Given the description of an element on the screen output the (x, y) to click on. 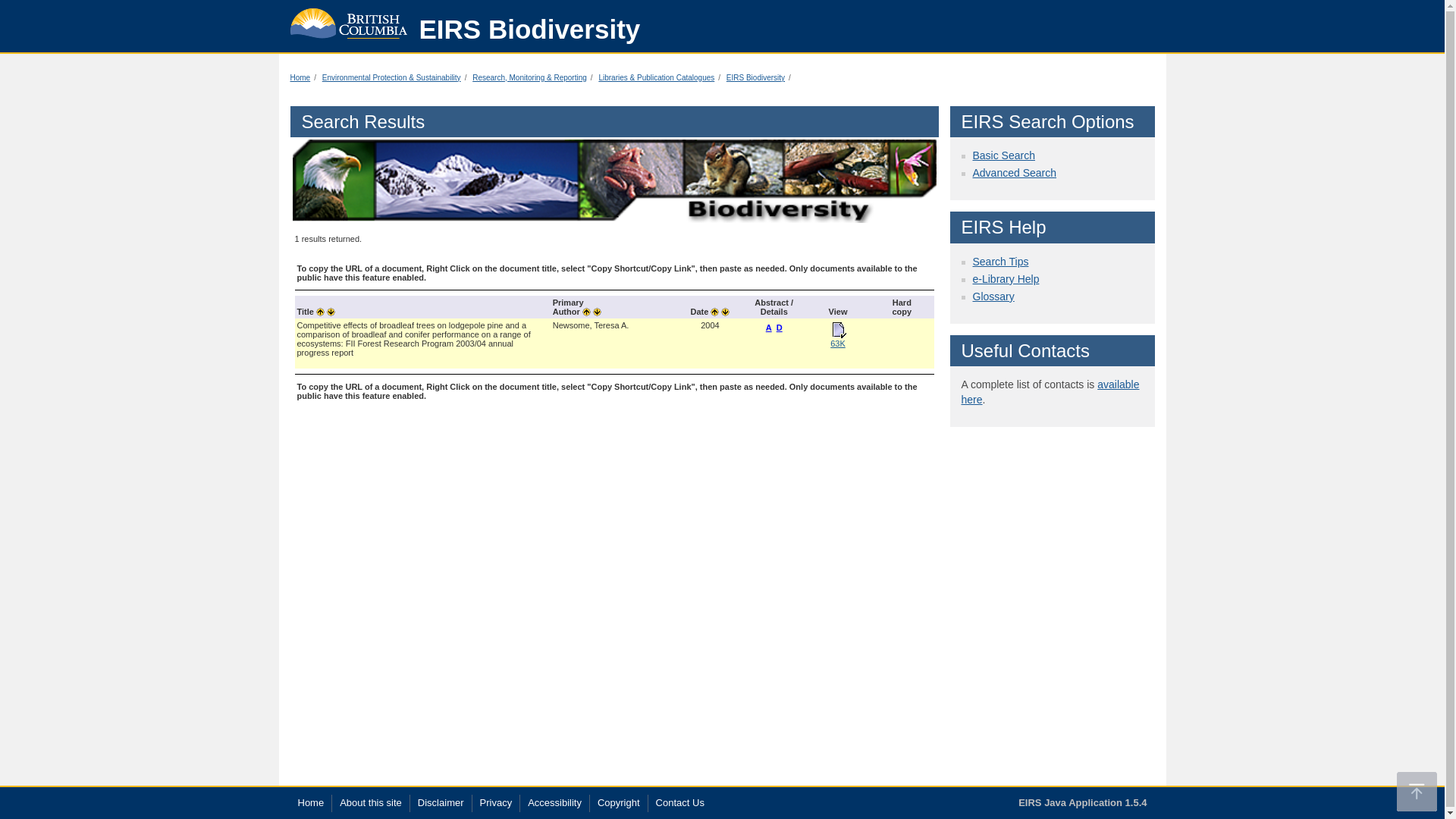
Home (299, 77)
About this site (370, 803)
Advanced Search (1014, 173)
Accessibility (553, 803)
Basic Search (1002, 155)
Glossary (992, 296)
Government of B.C. logo (348, 19)
Search Tips (999, 261)
Home (310, 803)
Basic Search (1002, 155)
available here (1050, 391)
e-Library Help (1005, 278)
Glossary (992, 296)
Advanced Search (1014, 173)
Search Tips (999, 261)
